Given the description of an element on the screen output the (x, y) to click on. 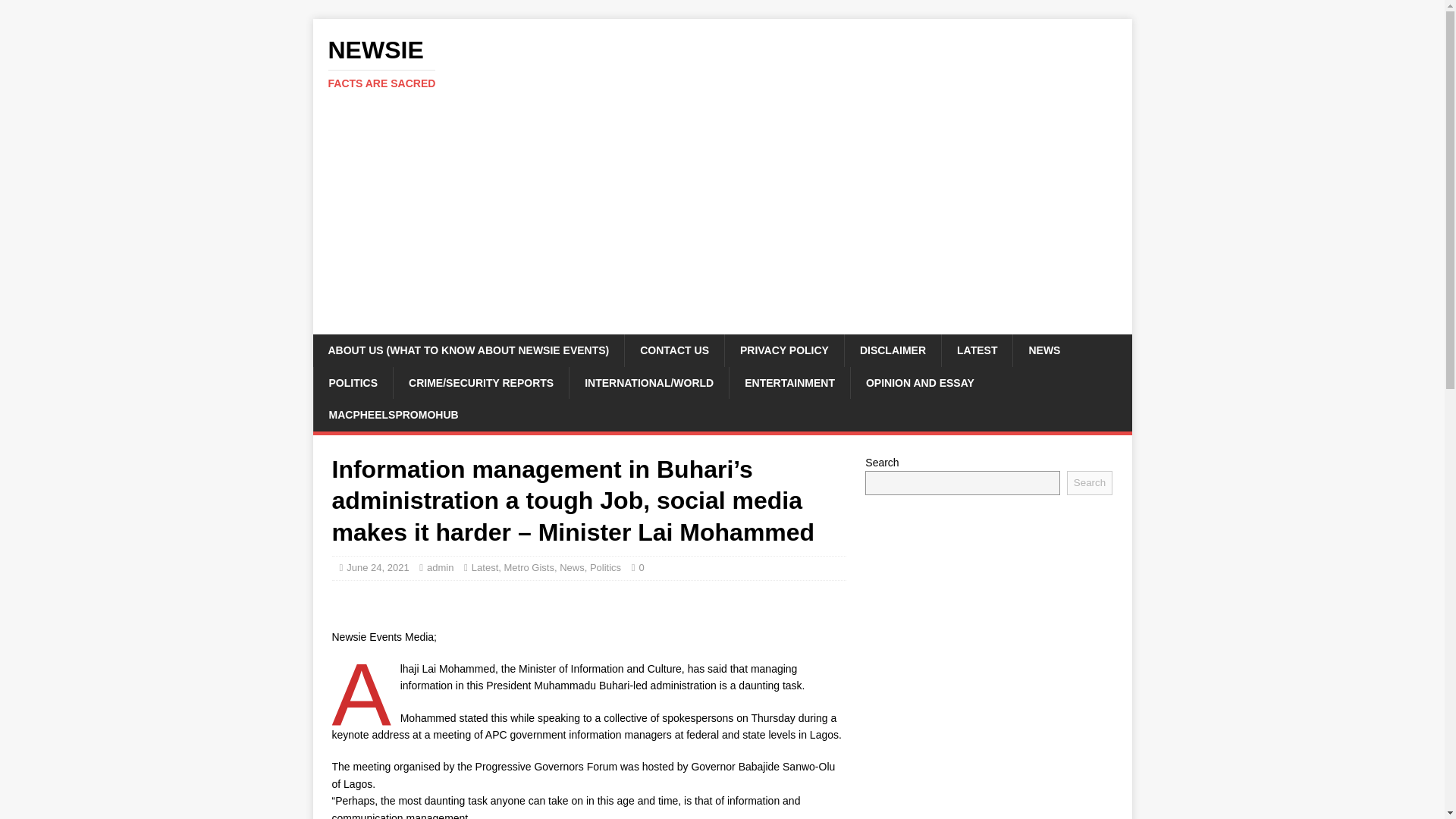
News (572, 567)
admin (439, 567)
Newsie (721, 63)
NEWS (1043, 350)
Latest (484, 567)
POLITICS (353, 382)
Politics (605, 567)
MACPHEELSPROMOHUB (393, 414)
OPINION AND ESSAY (920, 382)
Search (1088, 482)
